Given the description of an element on the screen output the (x, y) to click on. 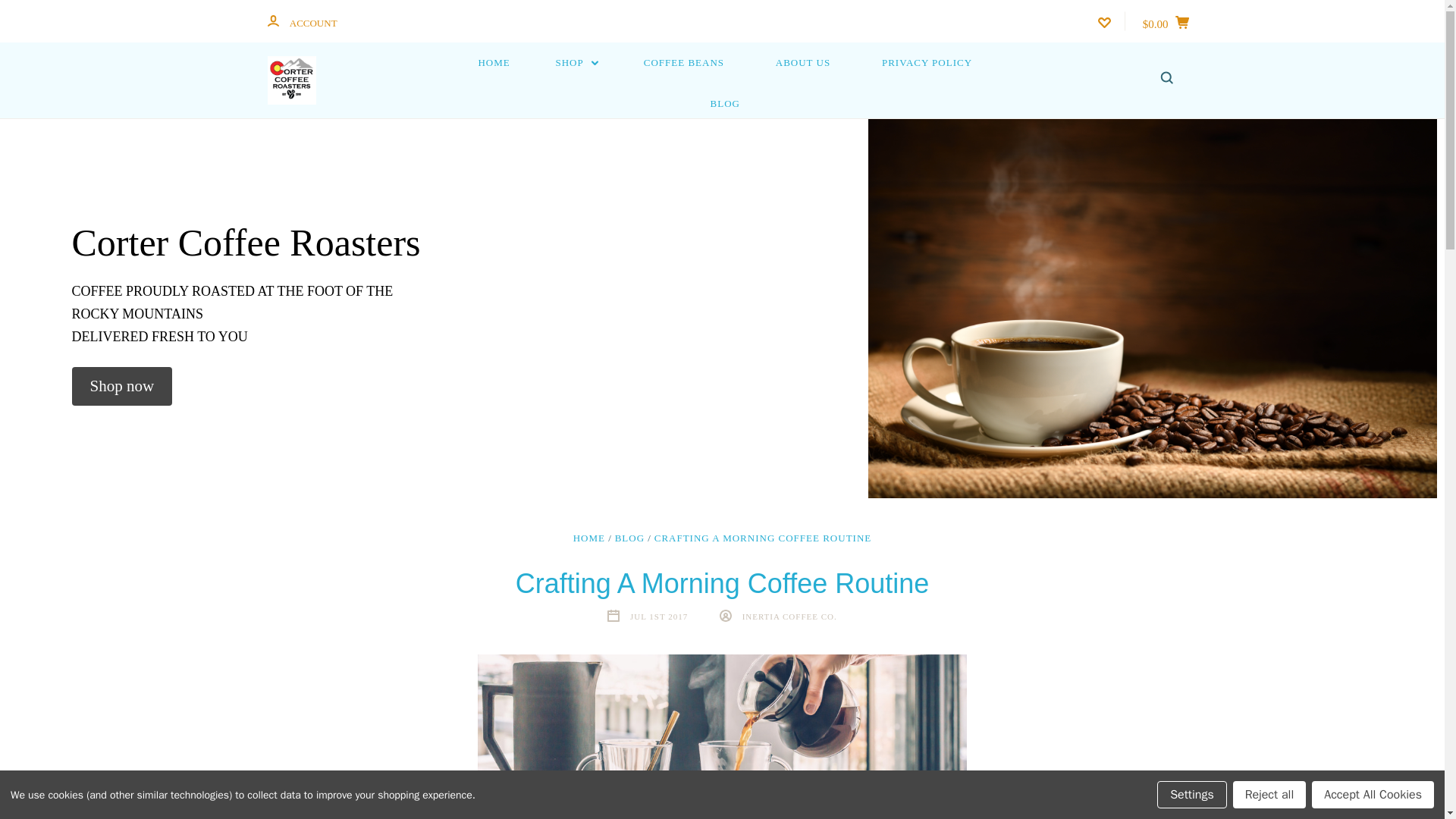
cart (1181, 21)
ACCOUNT ACCOUNT (301, 21)
COFFEE BEANS (683, 62)
ACCOUNT (272, 20)
BLOG (725, 103)
wishlist (1103, 22)
PRIVACY POLICY (926, 62)
BLOG (629, 537)
CRAFTING A MORNING COFFEE ROUTINE (762, 537)
ABOUT US (802, 62)
HOME (589, 537)
Crafting A Morning Coffee Routine (721, 736)
HOME (493, 62)
